Given the description of an element on the screen output the (x, y) to click on. 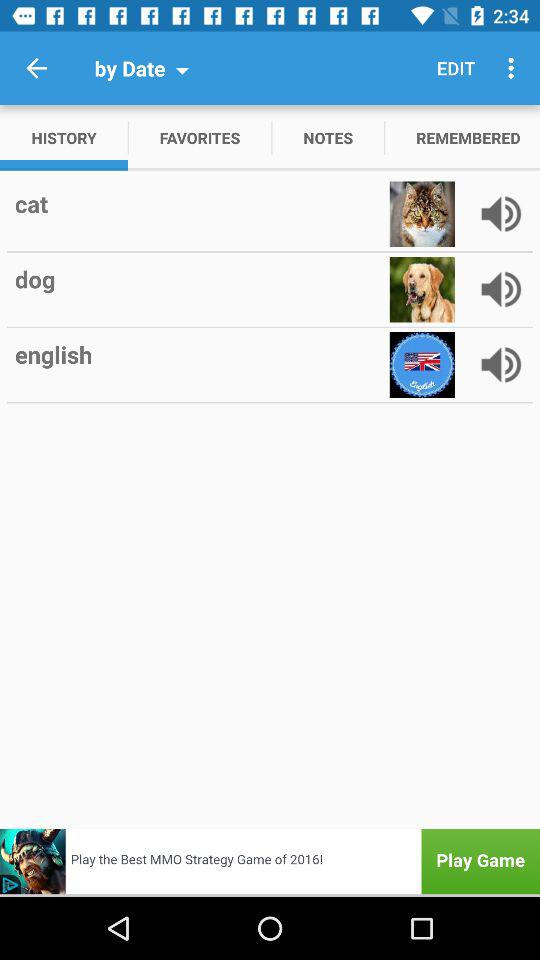
turn off the edit item (455, 67)
